Given the description of an element on the screen output the (x, y) to click on. 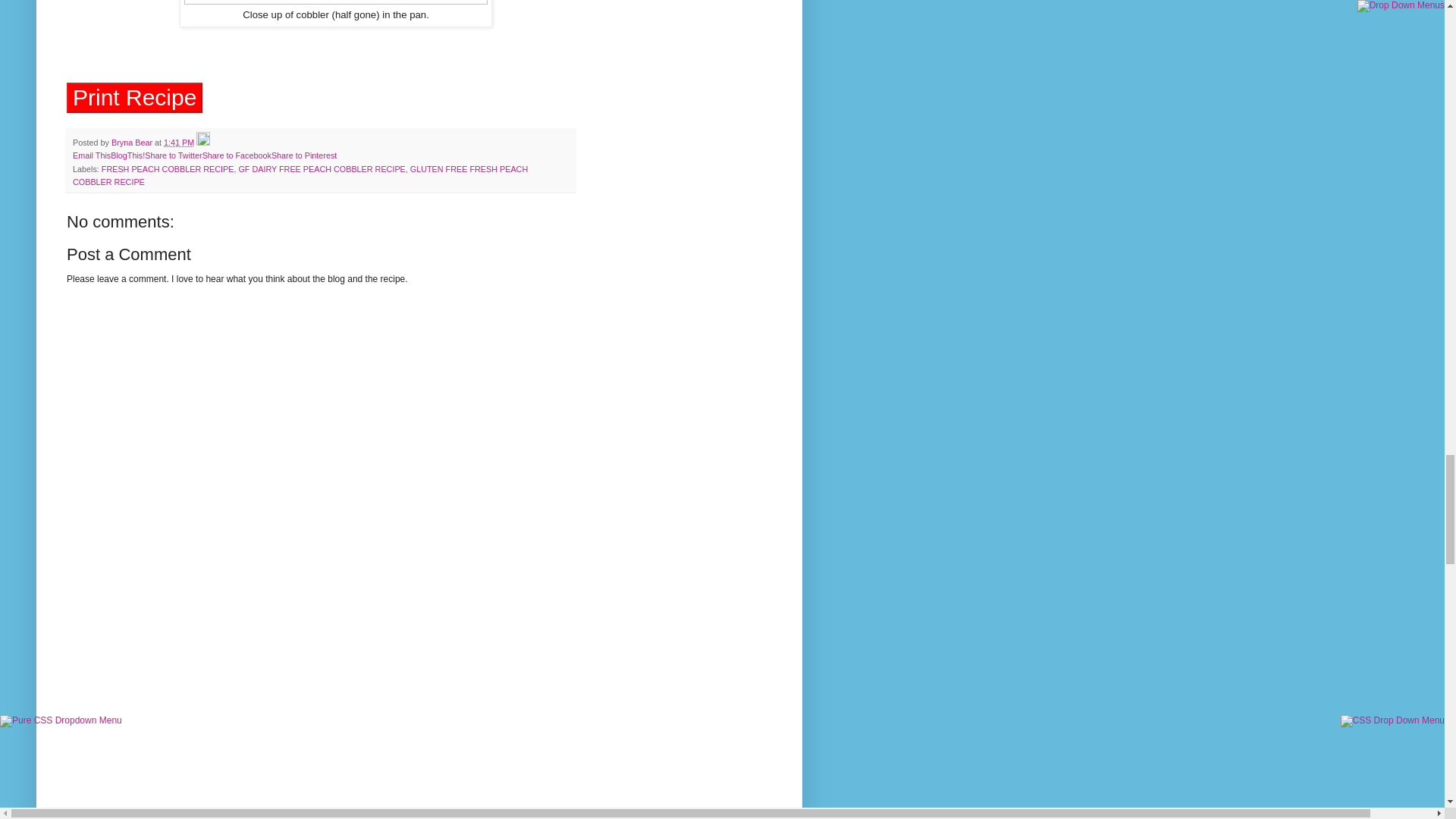
Share to Twitter (173, 154)
Bryna Bear (133, 142)
1:41 PM (178, 142)
Print Recipe (134, 97)
Email This (91, 154)
Share to Facebook (236, 154)
Older Post (148, 811)
author profile (133, 142)
Edit Post (202, 142)
permanent link (178, 142)
Email This (91, 154)
Newer Post (93, 811)
Share to Pinterest (303, 154)
BlogThis! (127, 154)
